Given the description of an element on the screen output the (x, y) to click on. 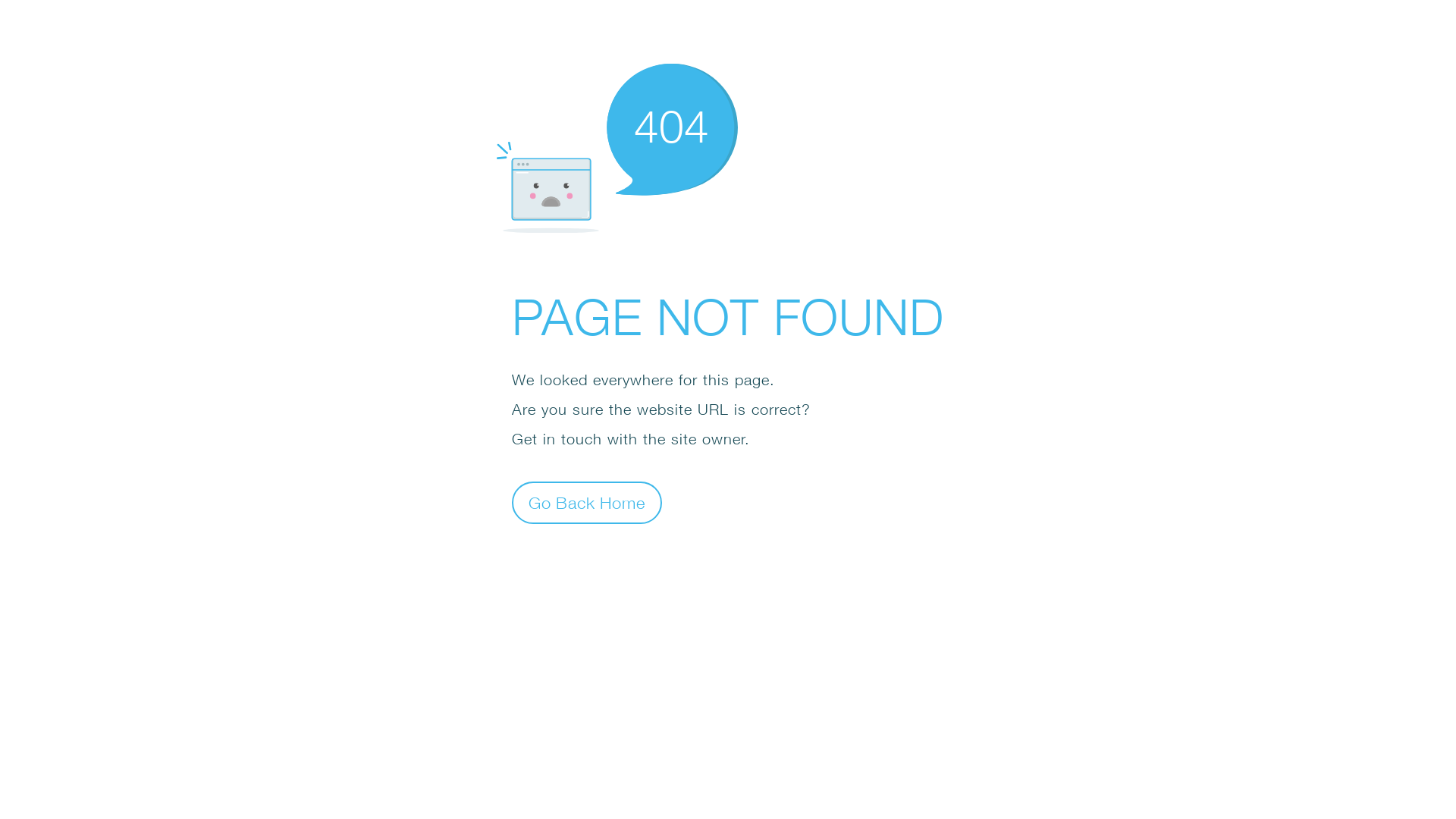
Go Back Home Element type: text (586, 502)
